Given the description of an element on the screen output the (x, y) to click on. 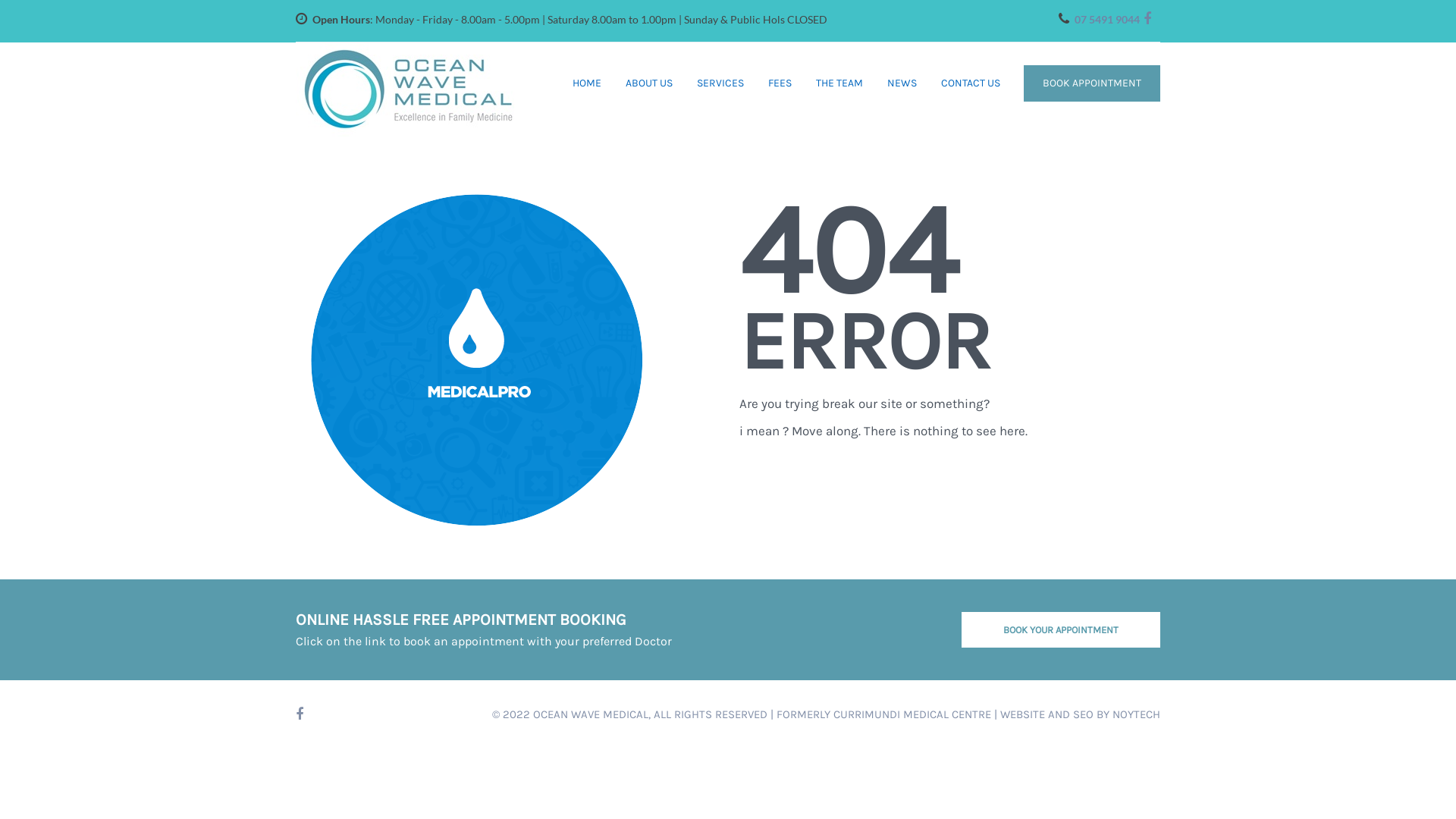
CURRIMUNDI MEDICAL CENTRE Element type: text (912, 714)
FEES Element type: text (779, 83)
07 5491 9044 Element type: text (1106, 18)
BOOK APPOINTMENT Element type: text (1091, 83)
SERVICES Element type: text (720, 83)
GENERAL PRACTICE Element type: text (786, 131)
HOME Element type: text (586, 83)
BOOK YOUR APPOINTMENT Element type: text (1061, 629)
ABOUT US Element type: text (648, 83)
WEBSITE AND SEO BY NOYTECH Element type: text (1080, 714)
THE TEAM Element type: text (839, 83)
FORMS Element type: text (708, 131)
CONTACT US Element type: text (970, 83)
NEWS Element type: text (901, 83)
